Given the description of an element on the screen output the (x, y) to click on. 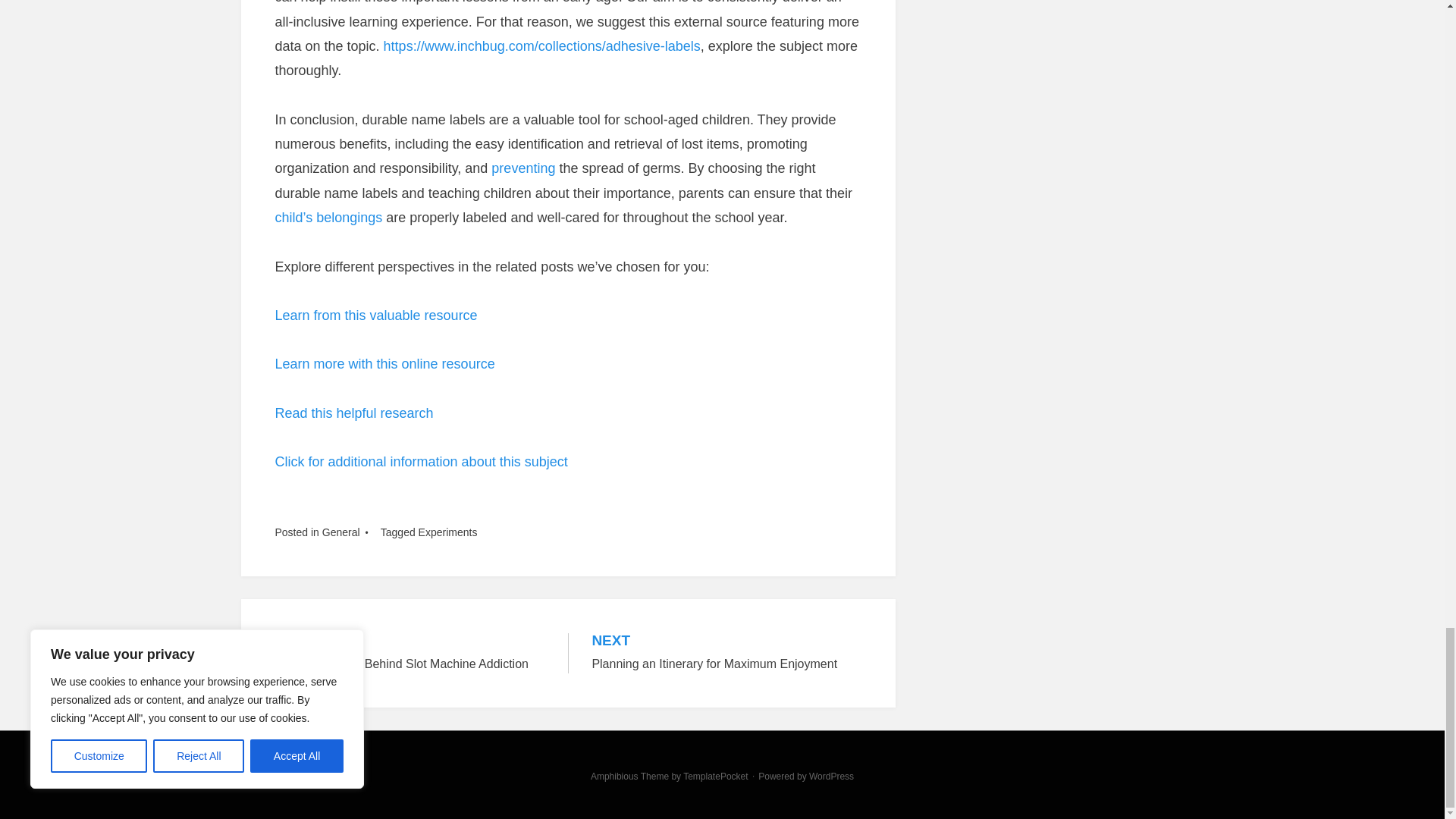
preventing (523, 168)
WordPress (831, 776)
Learn from this valuable resource (376, 314)
General (409, 653)
Experiments (340, 532)
TemplatePocket (448, 532)
Learn more with this online resource (715, 776)
Click for additional information about this subject (726, 653)
Read this helpful research (385, 363)
